Given the description of an element on the screen output the (x, y) to click on. 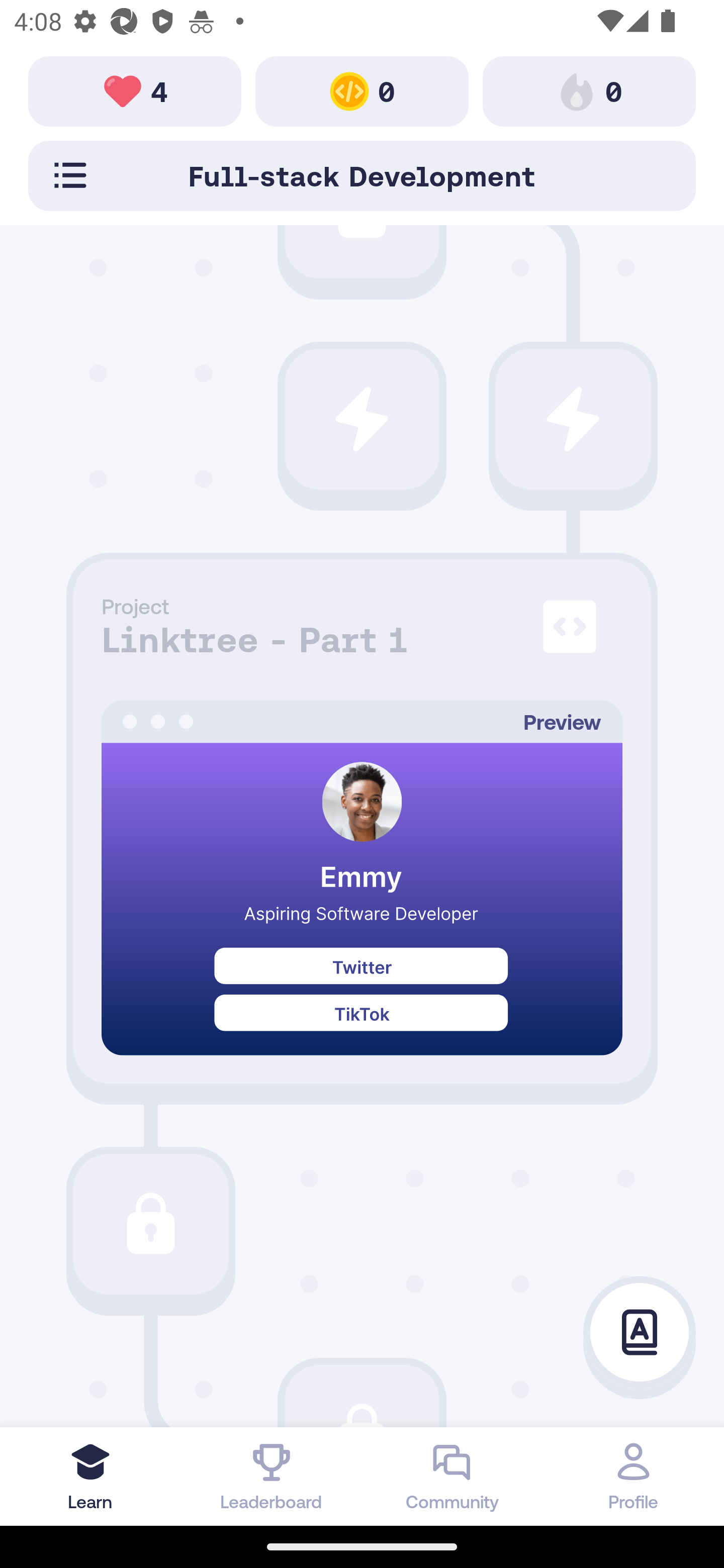
Path Toolbar Image 4 (134, 90)
Path Toolbar Image 0 (361, 90)
Path Toolbar Image 0 (588, 90)
Path Toolbar Selector Full-stack Development (361, 175)
Glossary Icon (639, 1332)
Leaderboard (271, 1475)
Community (452, 1475)
Profile (633, 1475)
